Given the description of an element on the screen output the (x, y) to click on. 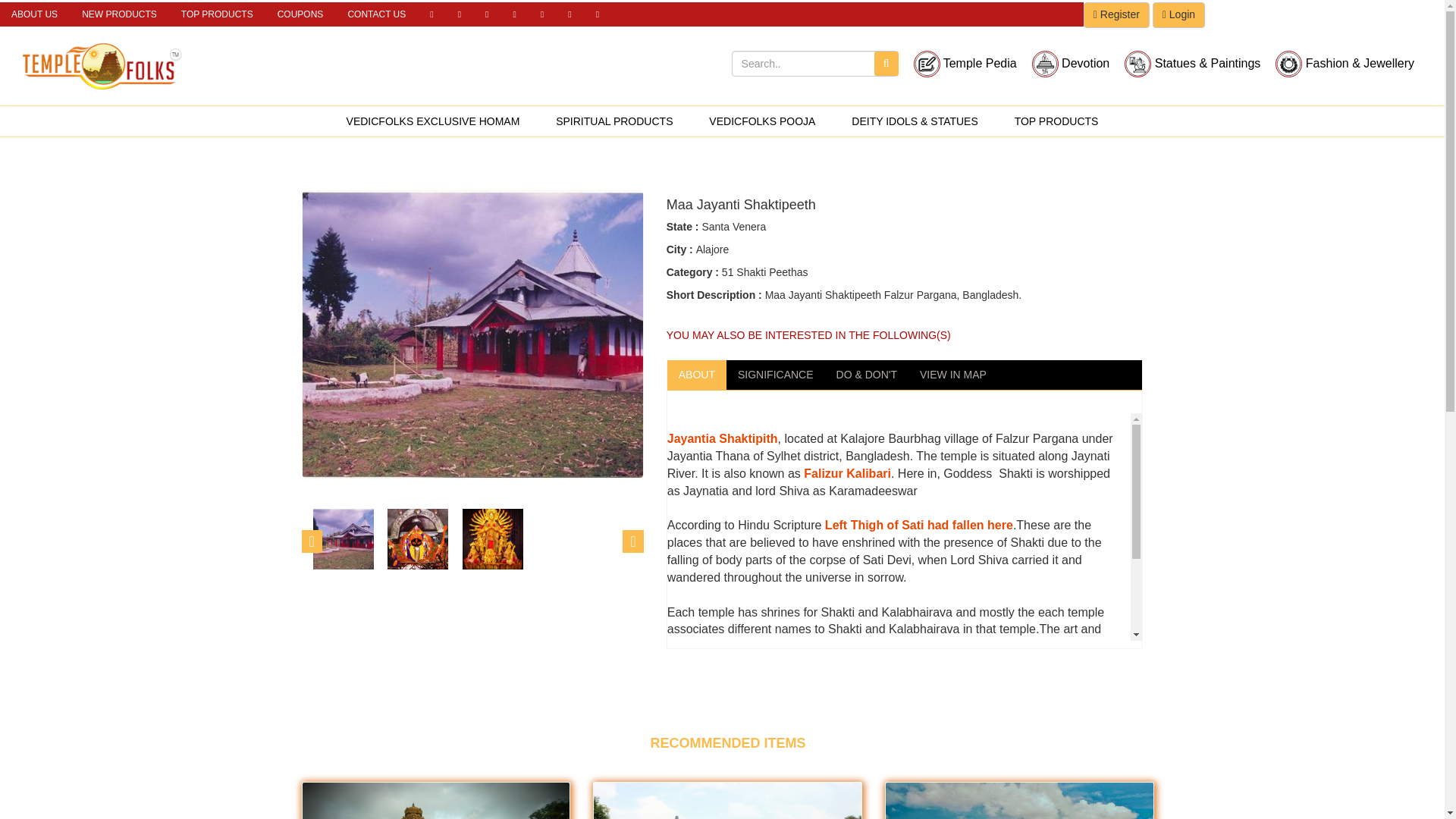
NEW PRODUCTS (118, 14)
Login (1179, 14)
COUPONS (300, 14)
ABOUT US (34, 14)
CONTACT US (376, 14)
VEDICFOLKS EXCLUSIVE HOMAM (433, 121)
Register (1116, 14)
TOP PRODUCTS (217, 14)
Devotion (1070, 67)
Temple Pedia (965, 67)
